Given the description of an element on the screen output the (x, y) to click on. 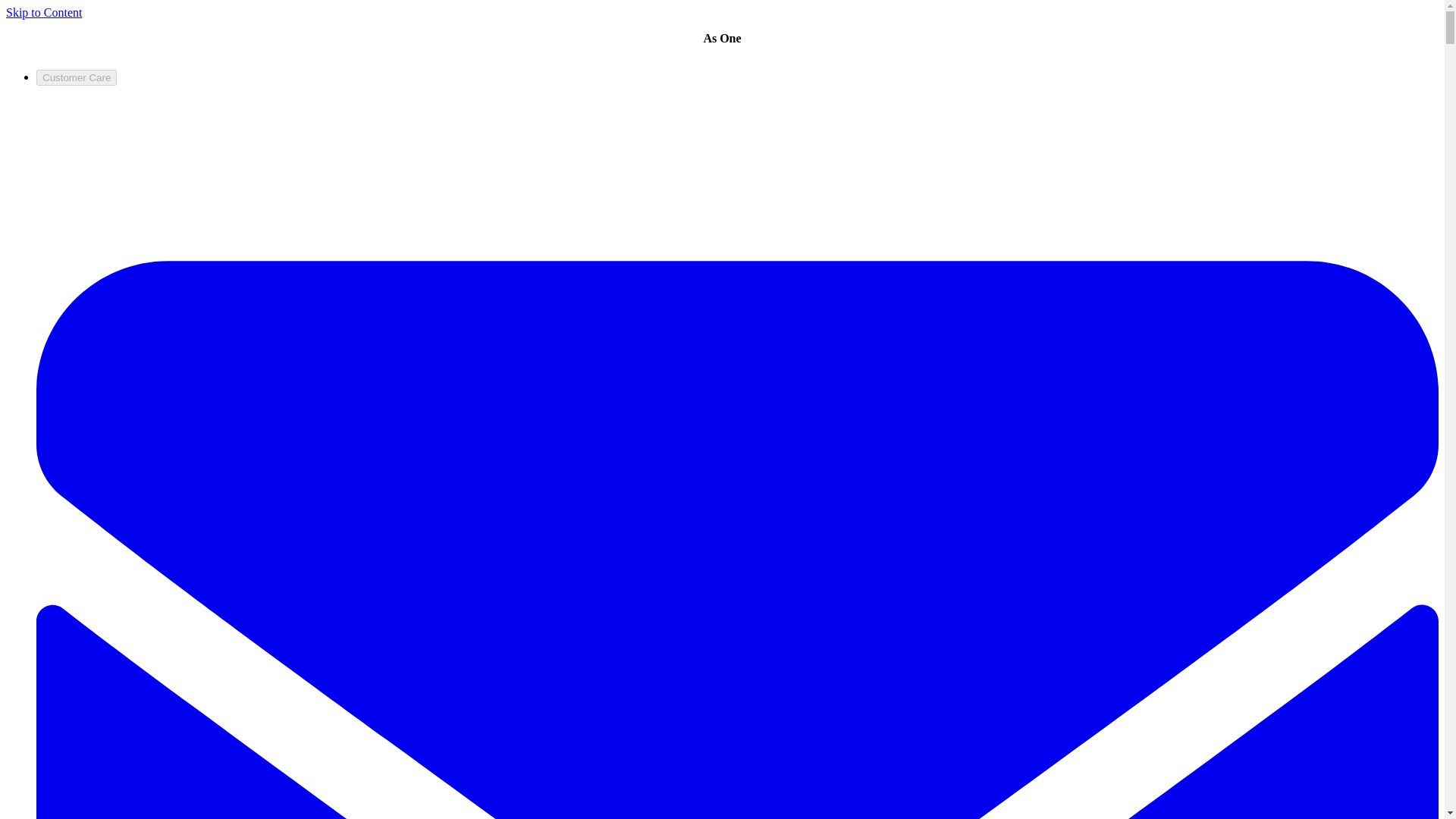
Skip to Content (43, 11)
Customer Care (76, 77)
